Given the description of an element on the screen output the (x, y) to click on. 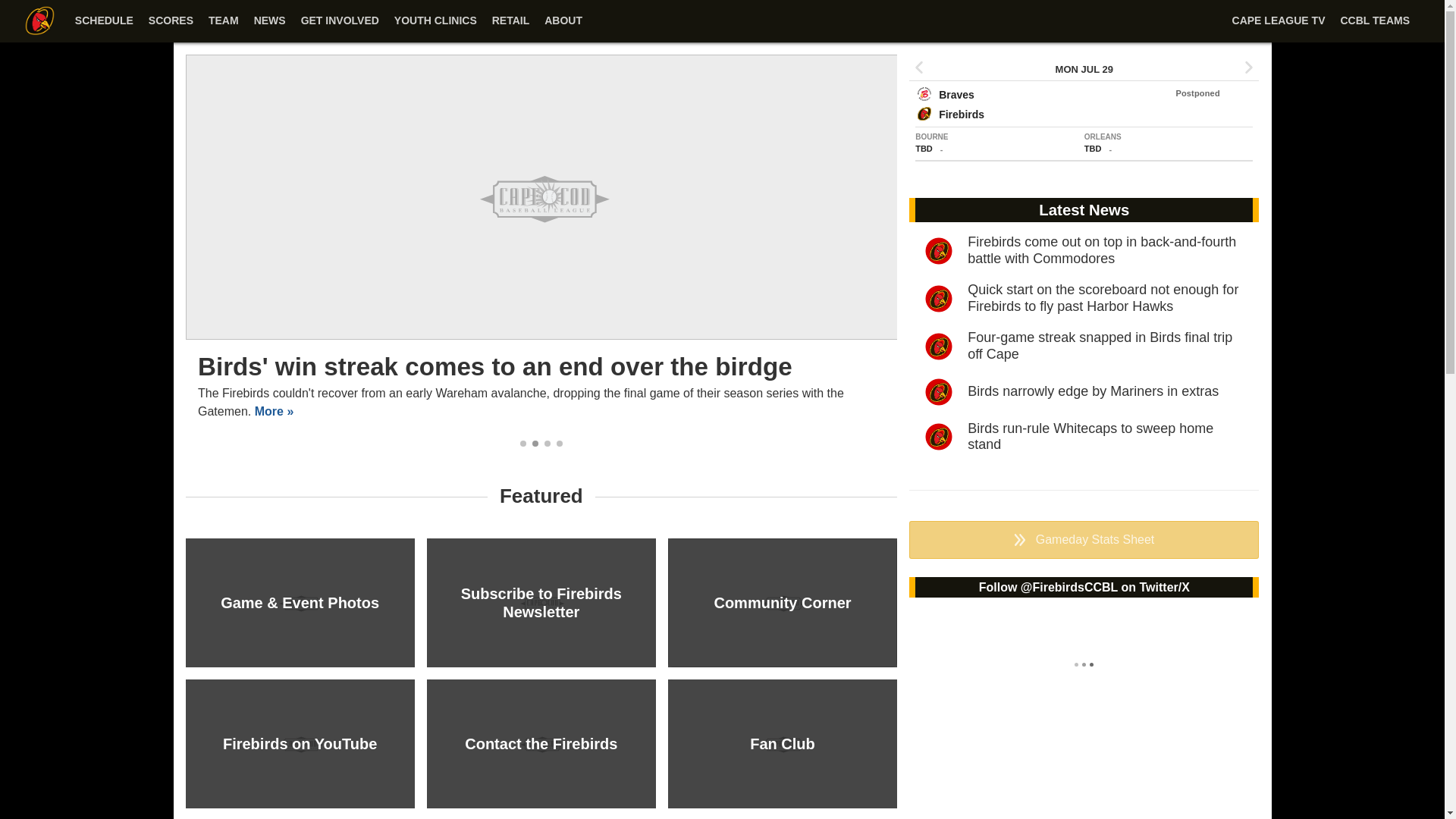
SCHEDULE (103, 21)
Tagboard Embed (1083, 666)
GET INVOLVED (340, 28)
CCBL TEAMS (1374, 28)
ABOUT (563, 28)
CAPE LEAGUE TV (1278, 28)
YOUTH CLINICS (435, 28)
RETAIL (510, 28)
SCORES (170, 21)
more-9 (1019, 539)
